Given the description of an element on the screen output the (x, y) to click on. 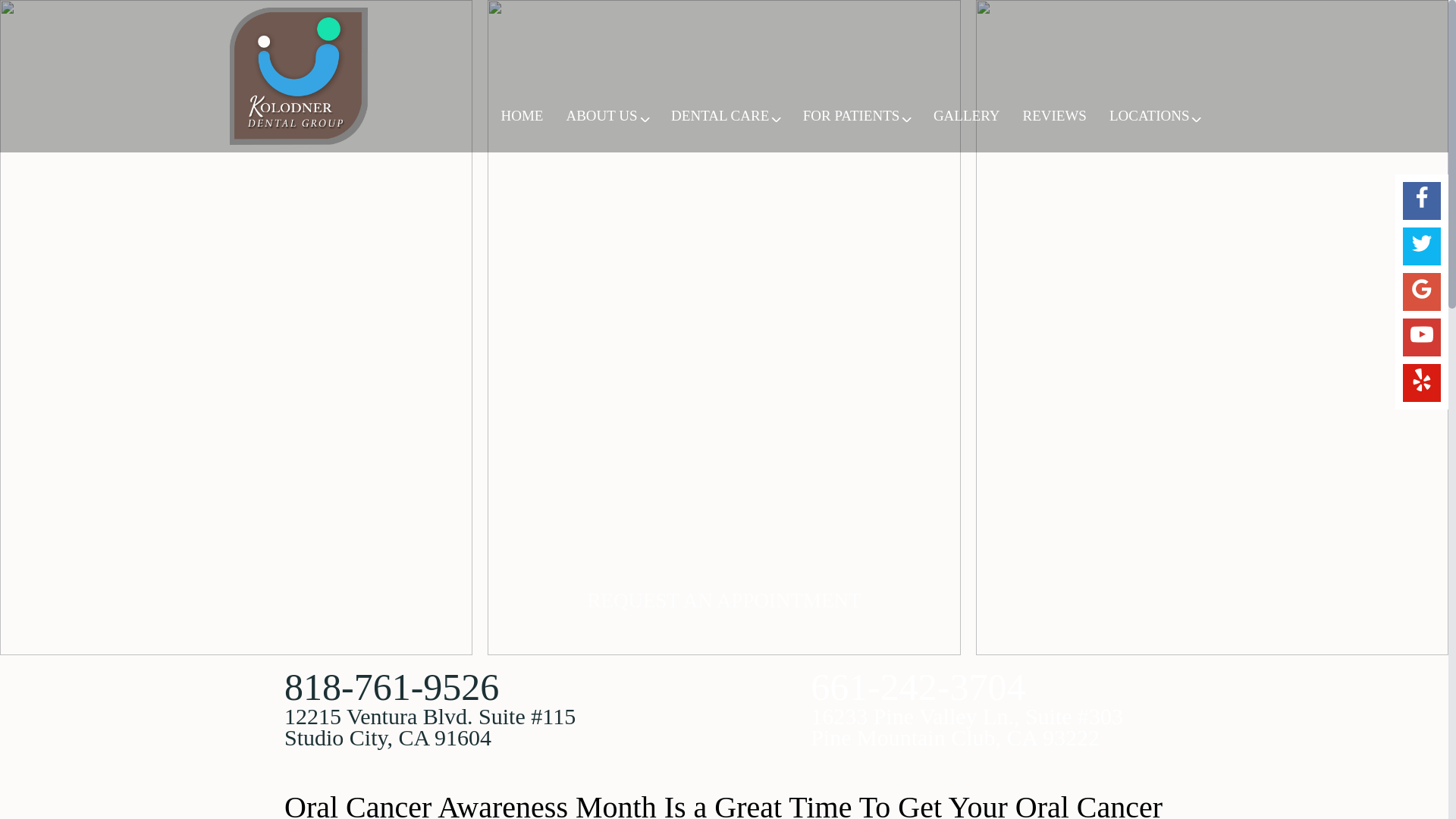
Facebook icon (1421, 197)
YouTube icon (1421, 333)
Twitter icon (1421, 242)
Google icon (1421, 288)
Facebook icon (1421, 197)
YouTube icon (1421, 333)
Google icon (1421, 288)
Yelp icon (1421, 379)
Twitter icon (1421, 242)
Yelp icon (1421, 379)
